Given the description of an element on the screen output the (x, y) to click on. 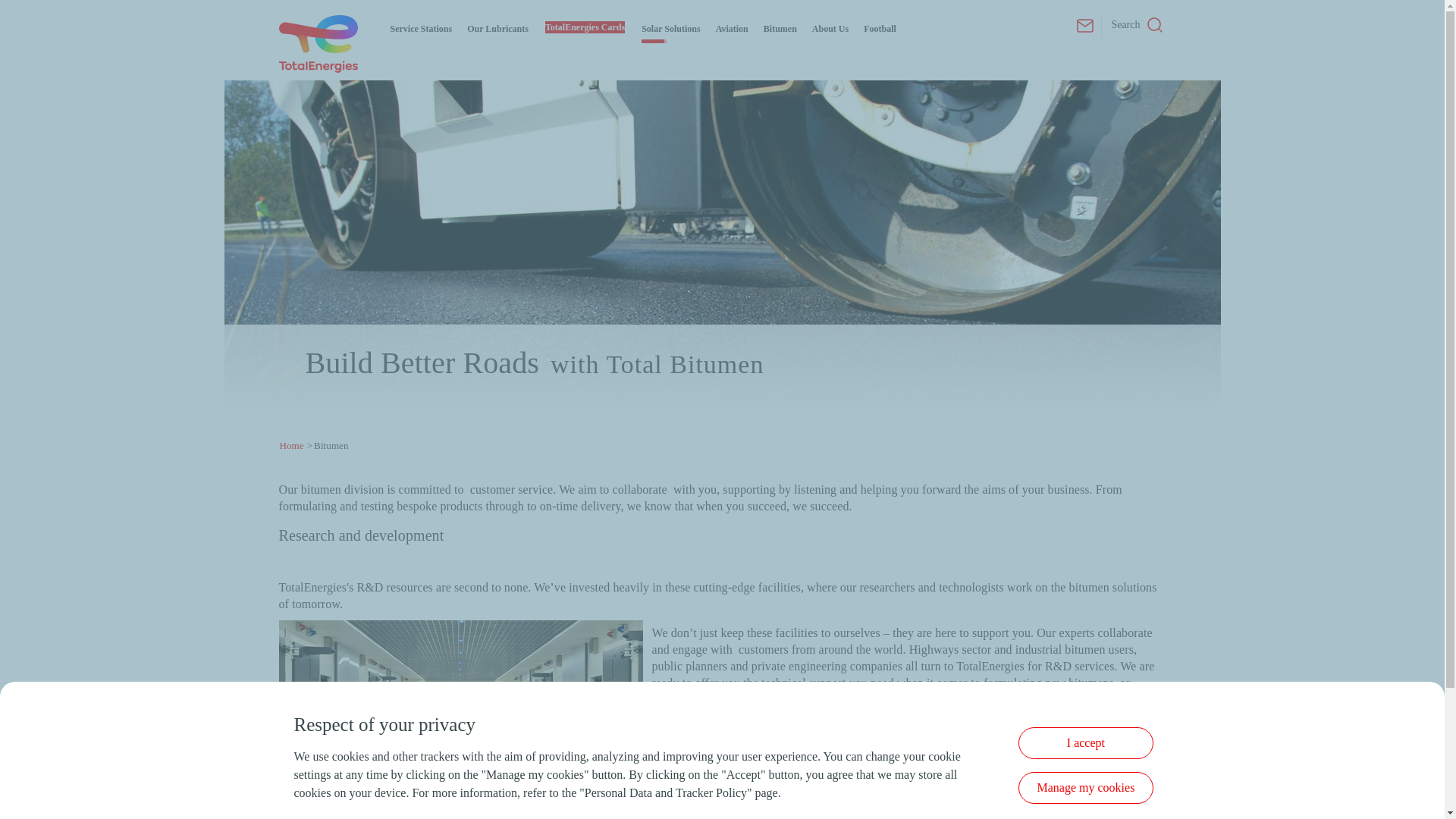
TotalEnergies Cards (584, 27)
Our Lubricants (497, 28)
Service Stations (420, 28)
